Given the description of an element on the screen output the (x, y) to click on. 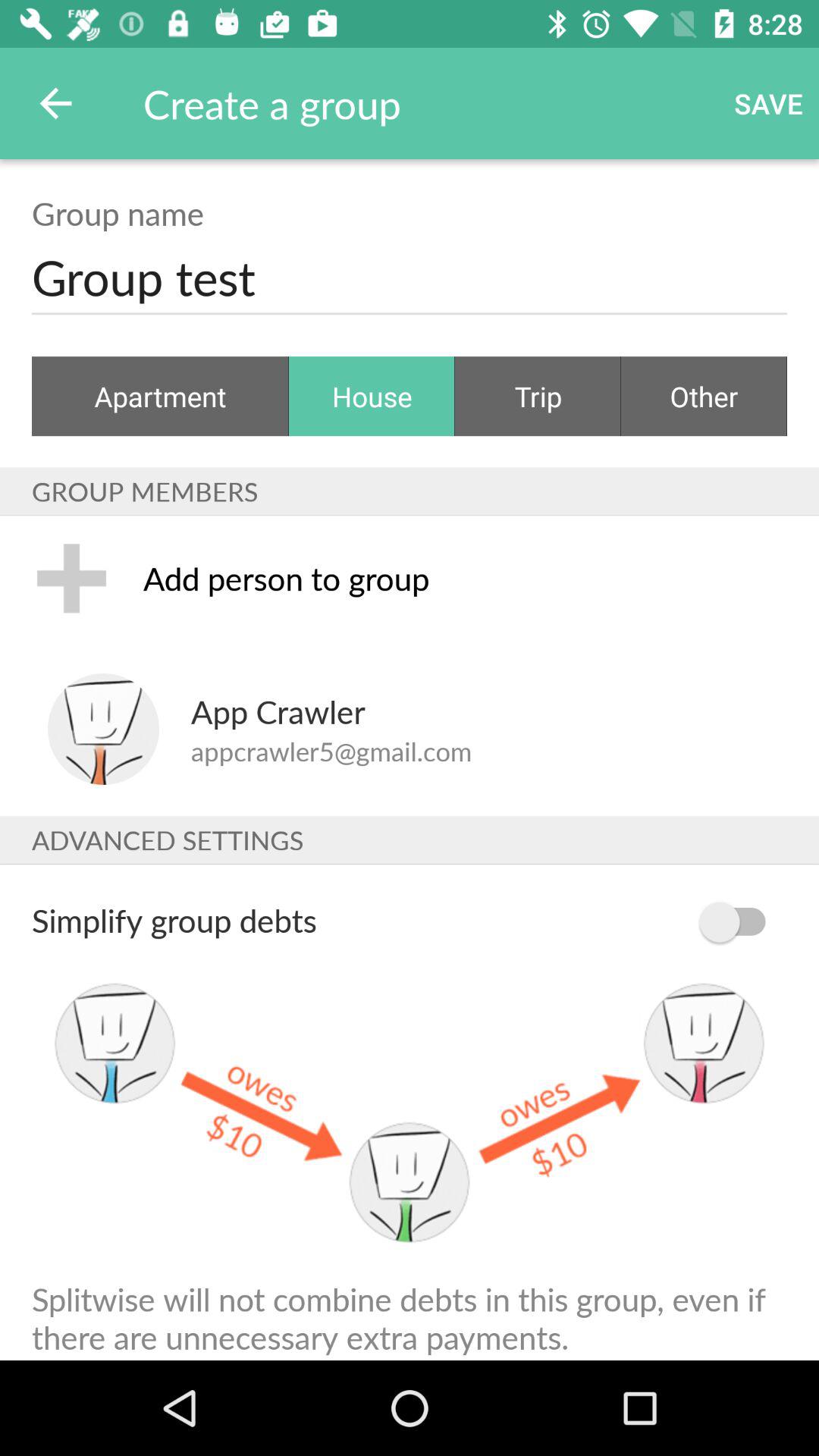
choose item below the group members icon (465, 578)
